Given the description of an element on the screen output the (x, y) to click on. 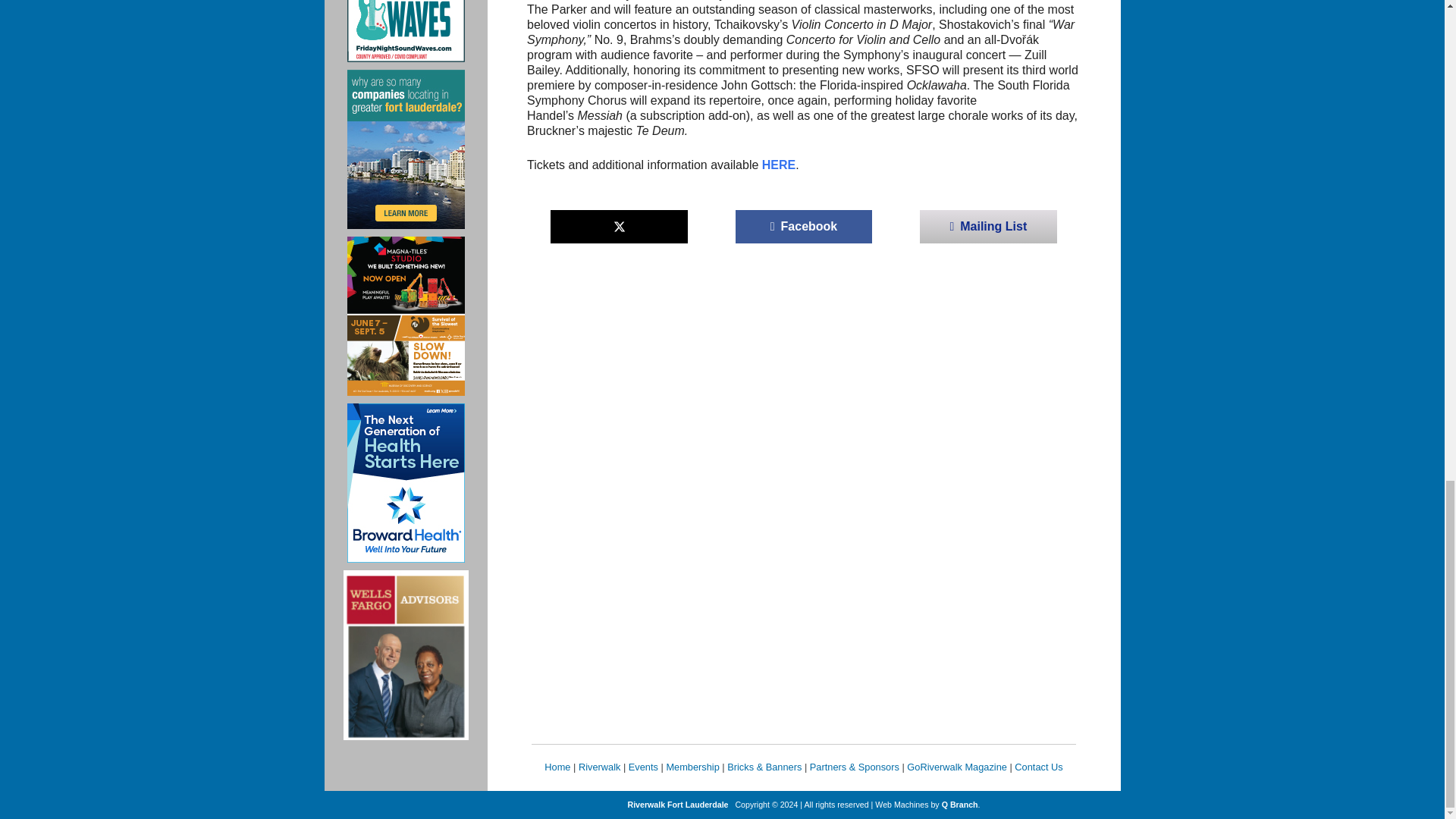
HERE (777, 164)
Facebook (803, 226)
Riverwalk Fort Lauderdale (677, 804)
Mailing List (988, 226)
